Given the description of an element on the screen output the (x, y) to click on. 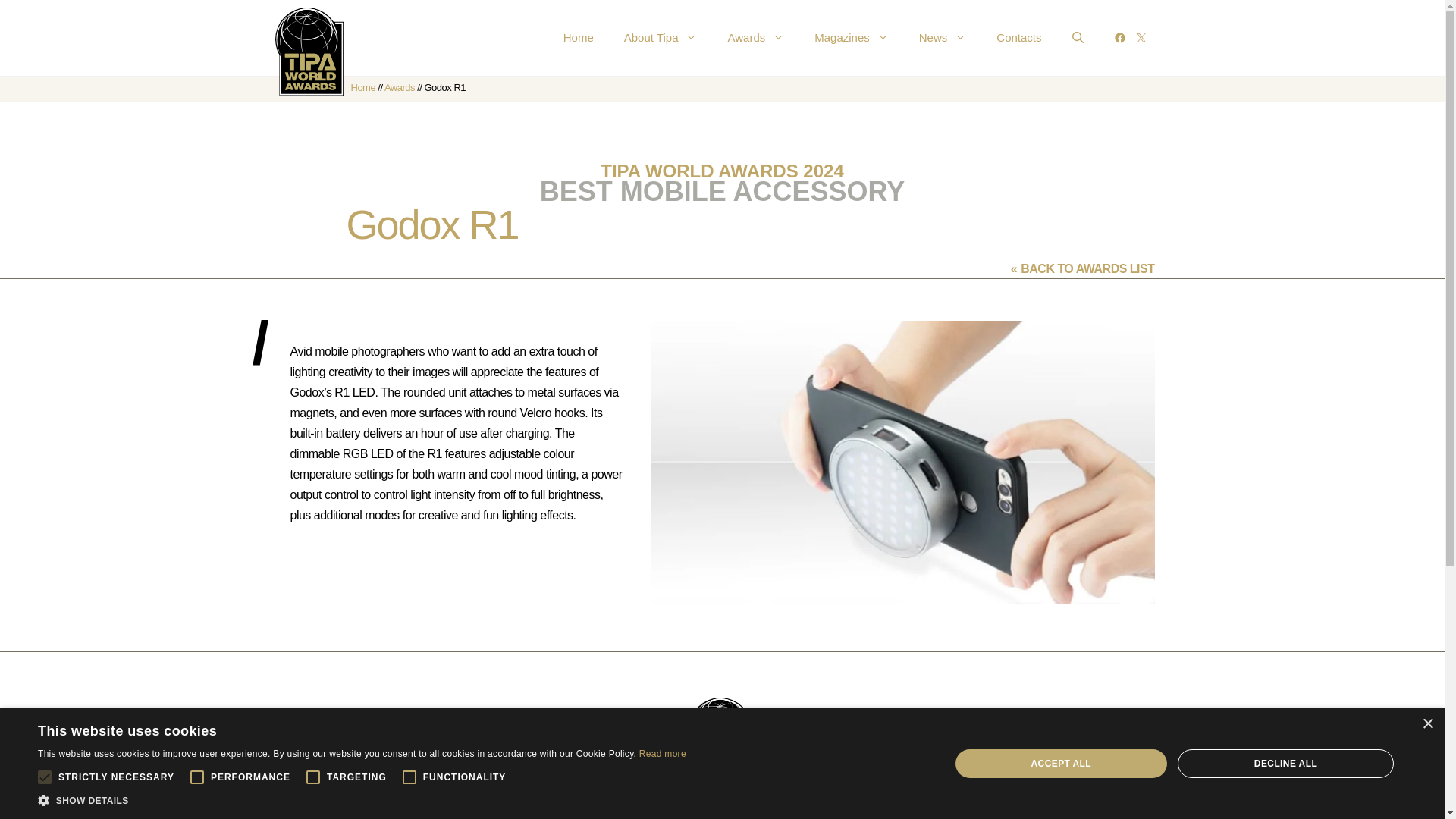
ABOUT TIPA (429, 815)
Magazines (851, 37)
FACEBOOK (1119, 37)
Home (578, 37)
Awards (399, 87)
Contacts (1019, 37)
News (942, 37)
AWARDS (576, 815)
X (1140, 37)
About Tipa (660, 37)
Home (362, 87)
BACK TO AWARDS LIST (1087, 268)
HOME (315, 813)
Awards (755, 37)
